Given the description of an element on the screen output the (x, y) to click on. 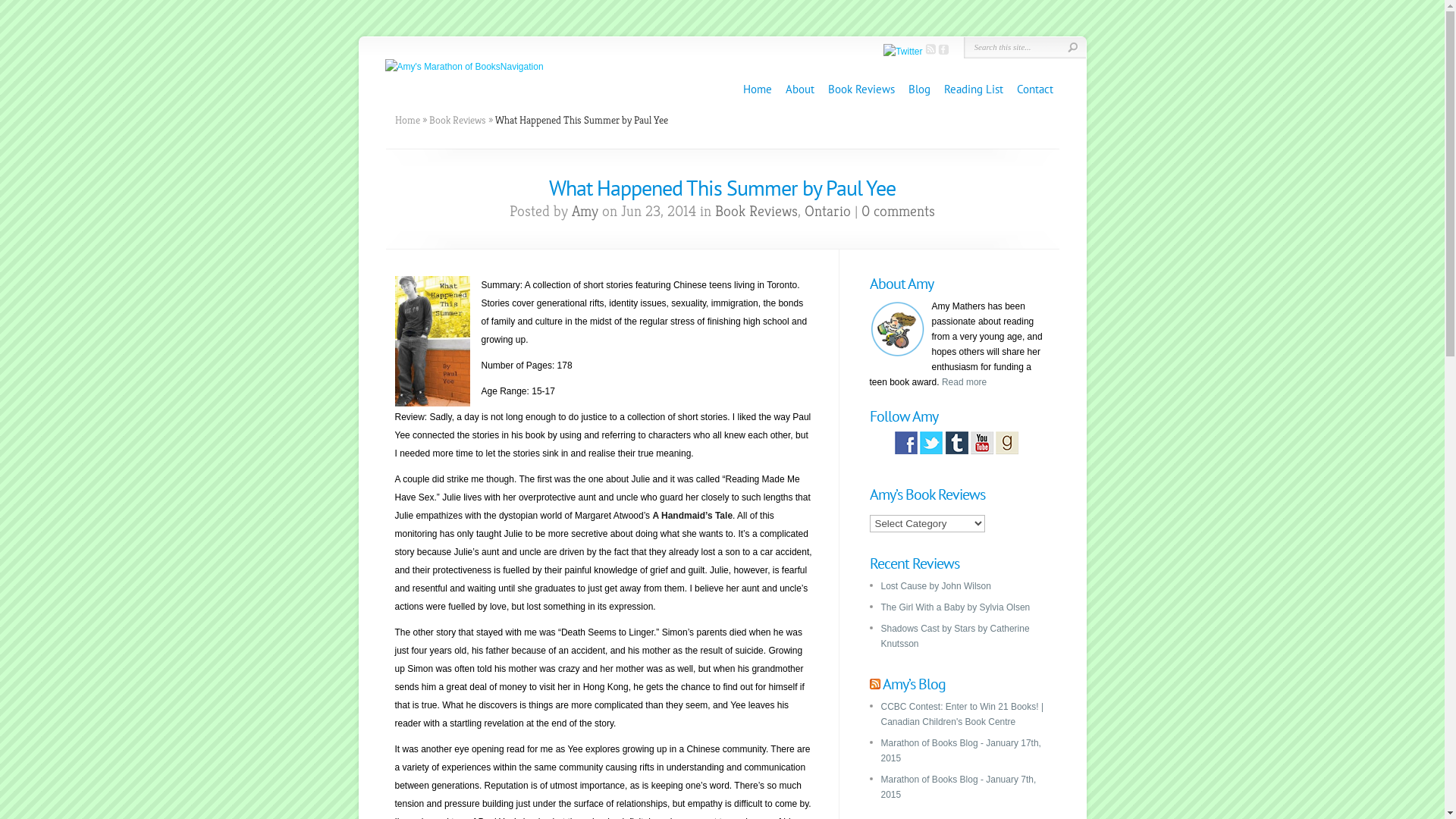
About Element type: text (799, 89)
Book Reviews Element type: text (457, 119)
Contact Element type: text (1034, 89)
The Girl With a Baby by Sylvia Olsen Element type: text (955, 607)
Home Element type: text (757, 89)
Book Reviews Element type: text (756, 210)
Reading List Element type: text (972, 89)
Home Element type: text (406, 119)
Blog Element type: text (919, 89)
Read more Element type: text (963, 381)
Marathon of Books Blog - January 17th, 2015 Element type: text (961, 750)
Navigation Element type: text (521, 66)
Shadows Cast by Stars by Catherine Knutsson Element type: text (955, 636)
Ontario Element type: text (827, 210)
Lost Cause by John Wilson Element type: text (936, 585)
Marathon of Books Blog - January 7th, 2015 Element type: text (958, 787)
Amy Element type: text (584, 210)
Book Reviews Element type: text (861, 89)
0 comments Element type: text (898, 210)
